Given the description of an element on the screen output the (x, y) to click on. 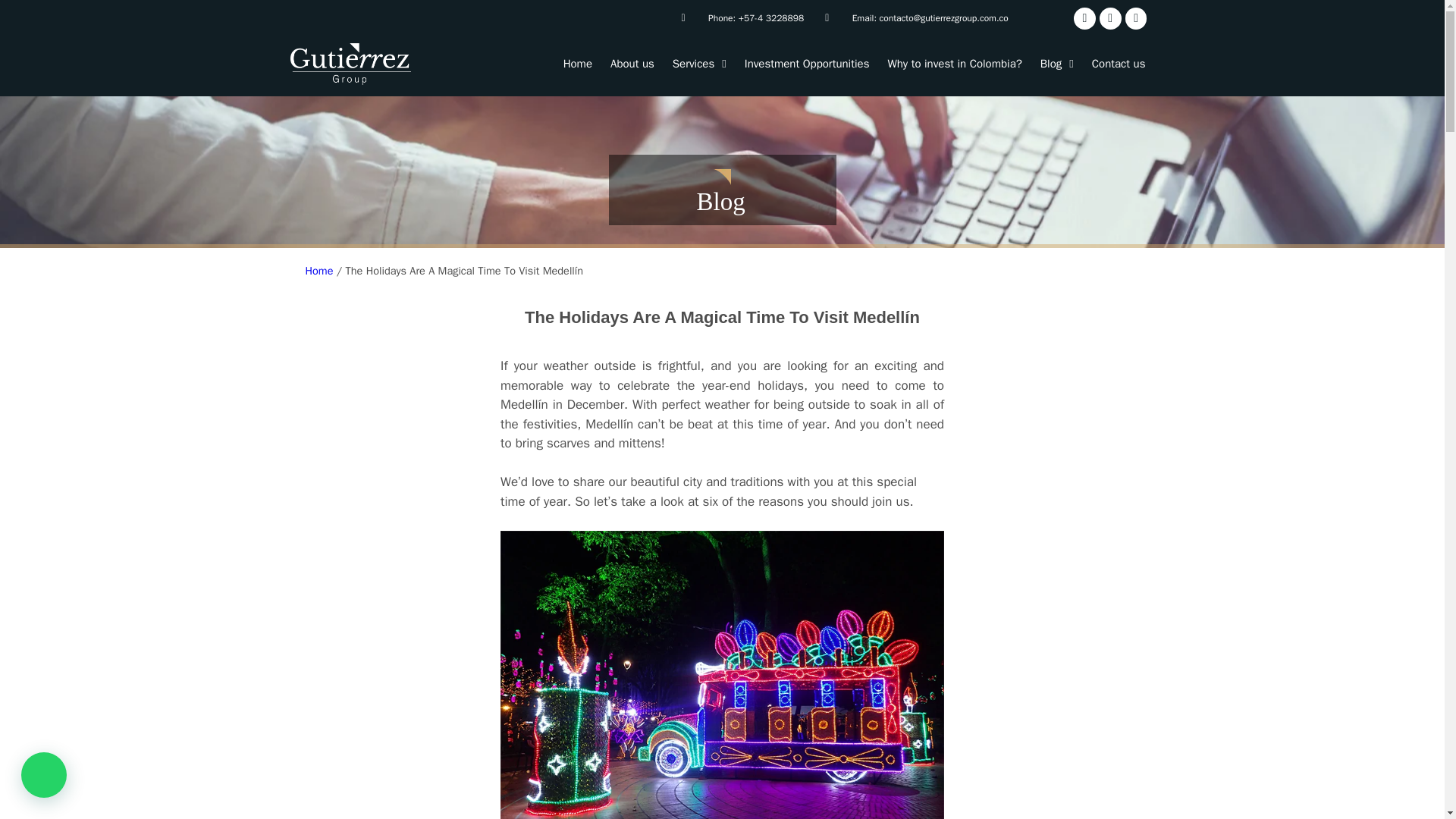
About us (632, 63)
Why to invest in Colombia? (953, 63)
Contact us (1118, 63)
Investment Opportunities (807, 63)
Home (318, 270)
Services (699, 63)
Blog (1056, 63)
Home (577, 63)
